Given the description of an element on the screen output the (x, y) to click on. 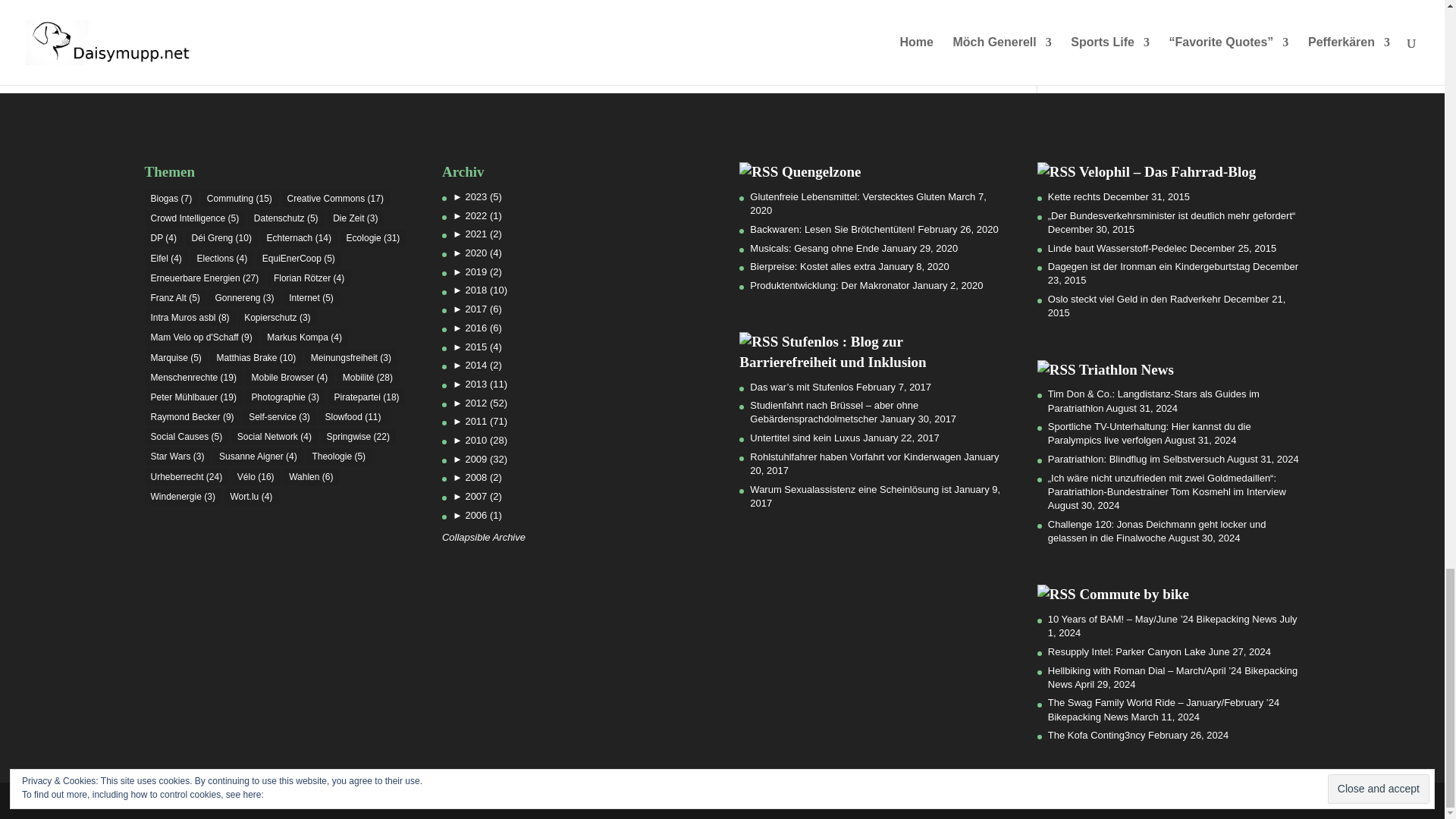
Learn how your comment data is processed (413, 4)
Powered by Collapsible Archive Widget (483, 536)
Premium WordPress Themes (240, 799)
